Given the description of an element on the screen output the (x, y) to click on. 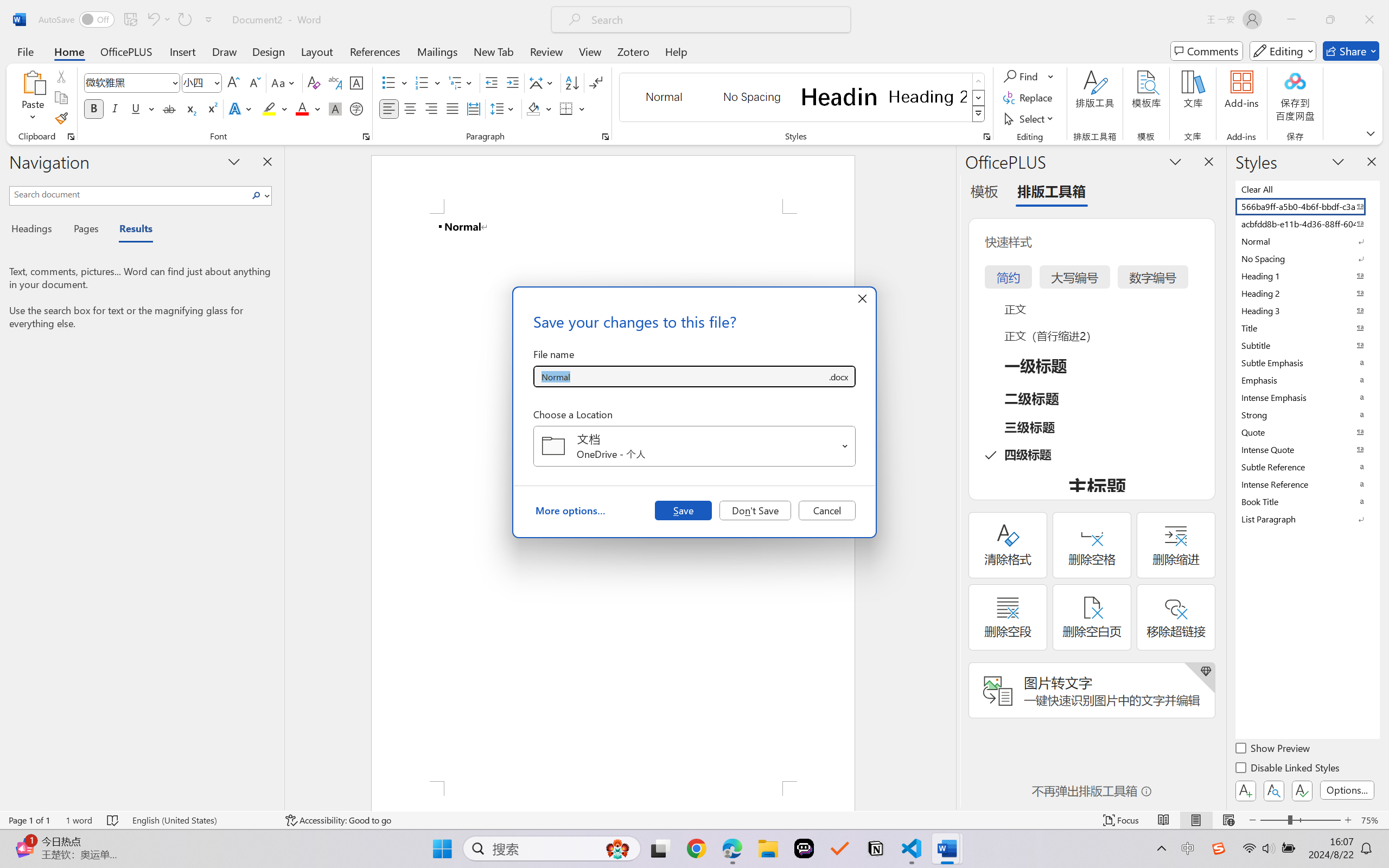
Share (1350, 51)
Class: NetUIButton (1301, 790)
566ba9ff-a5b0-4b6f-bbdf-c3ab41993fc2 (1306, 206)
Save as type (837, 376)
Zoom In (1348, 819)
Heading 3 (1306, 310)
Focus  (1121, 819)
Insert (182, 51)
Font Color (308, 108)
Review (546, 51)
Zoom Out (1273, 819)
